Given the description of an element on the screen output the (x, y) to click on. 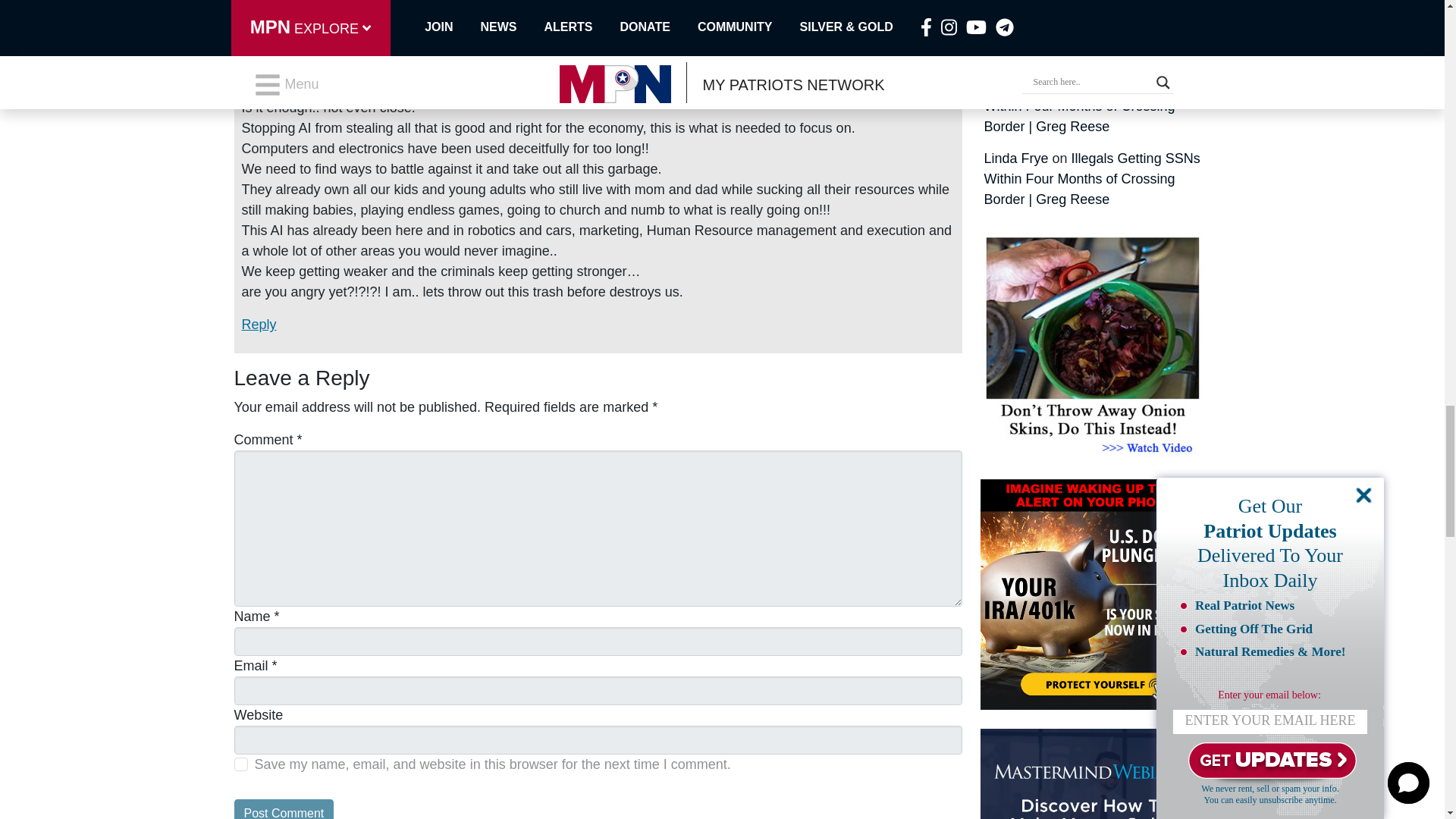
yes (239, 764)
Post Comment (282, 809)
